Given the description of an element on the screen output the (x, y) to click on. 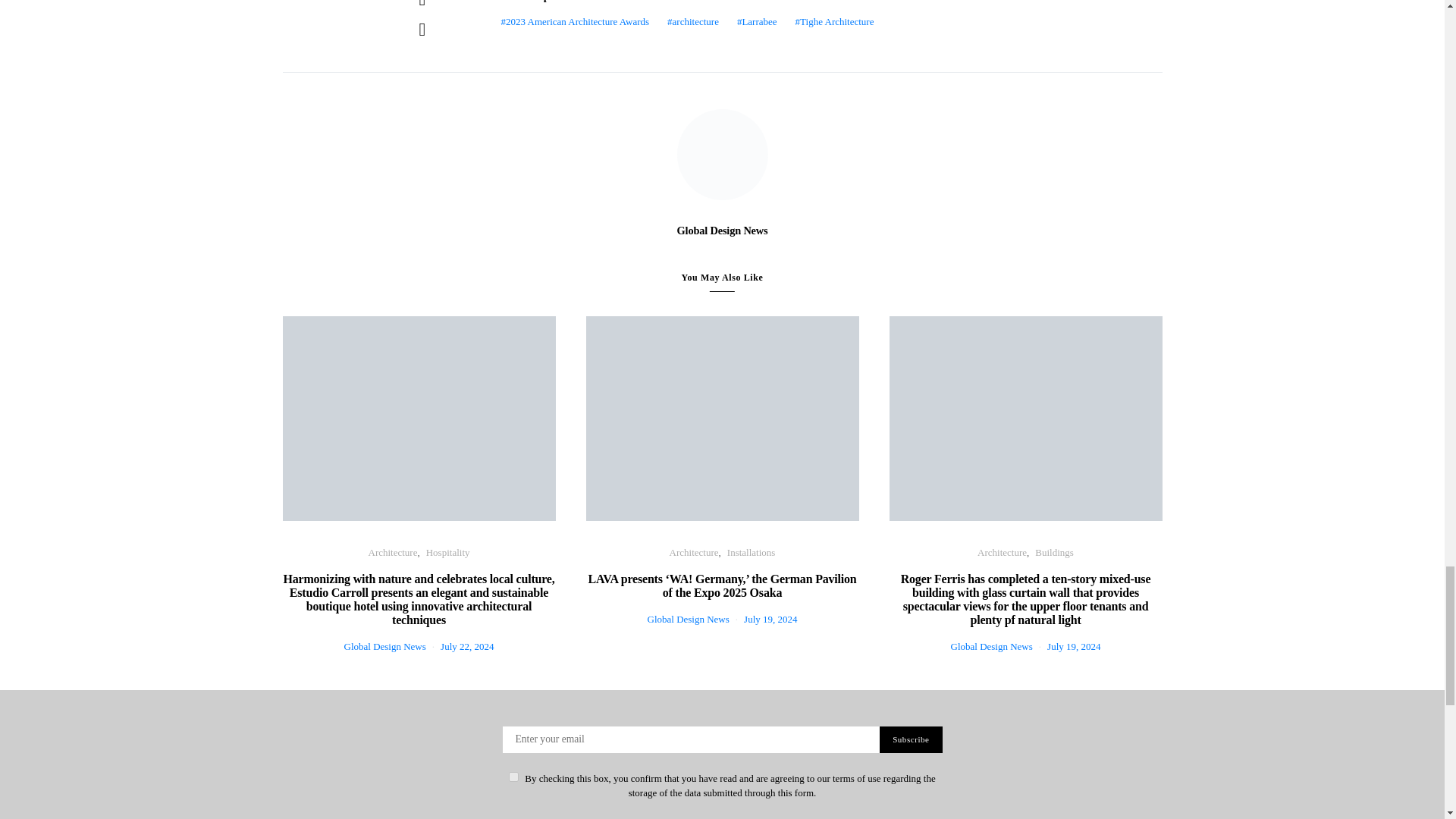
on (513, 777)
View all posts by Global Design News (384, 645)
View all posts by Global Design News (688, 618)
View all posts by Global Design News (991, 645)
